Given the description of an element on the screen output the (x, y) to click on. 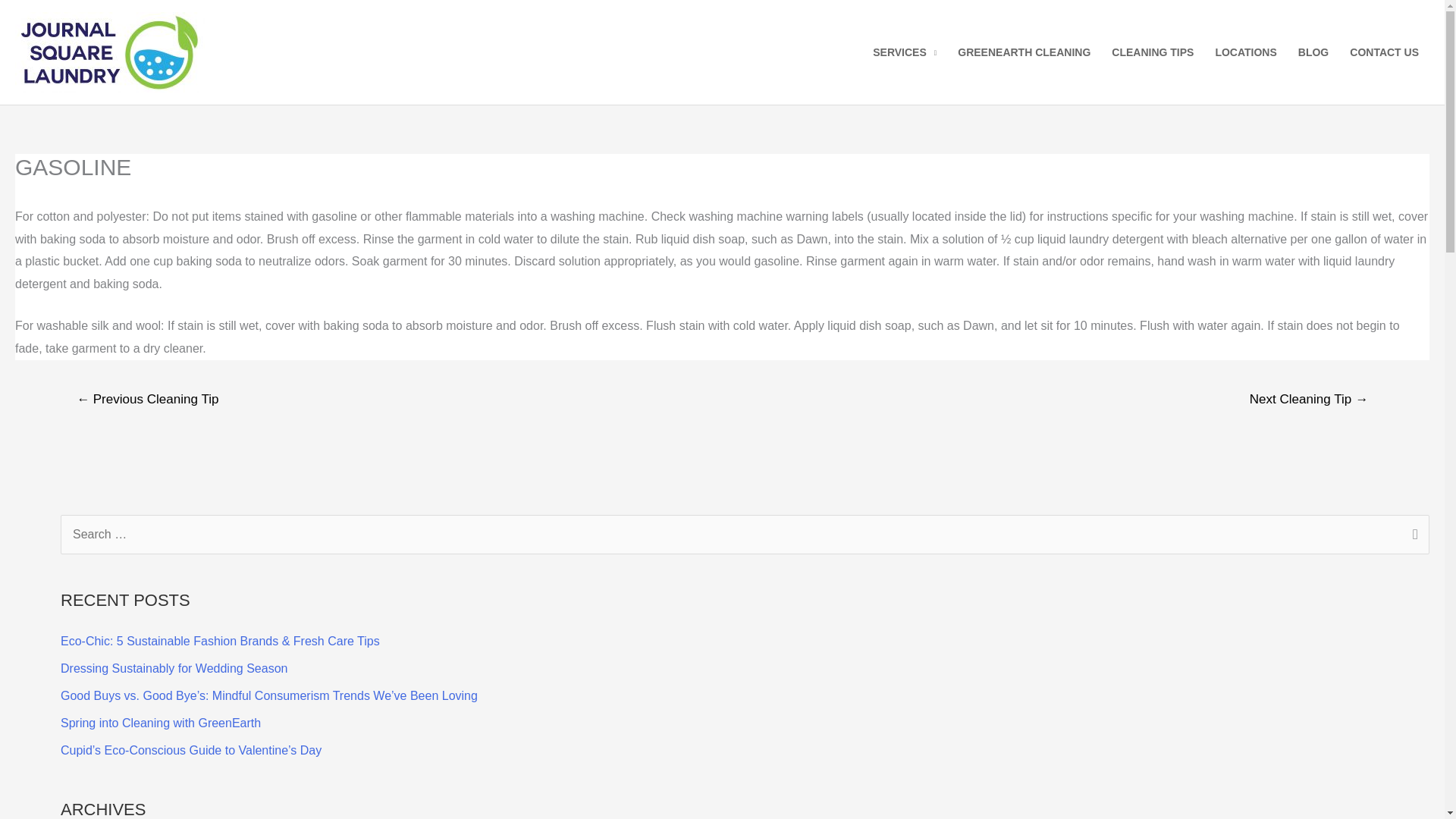
LOCATIONS (1245, 52)
Spring into Cleaning with GreenEarth (160, 722)
Dressing Sustainably for Wedding Season (173, 667)
CONTACT US (1384, 52)
CLEANING TIPS (1152, 52)
GREENEARTH CLEANING (1023, 52)
SERVICES (904, 52)
